Given the description of an element on the screen output the (x, y) to click on. 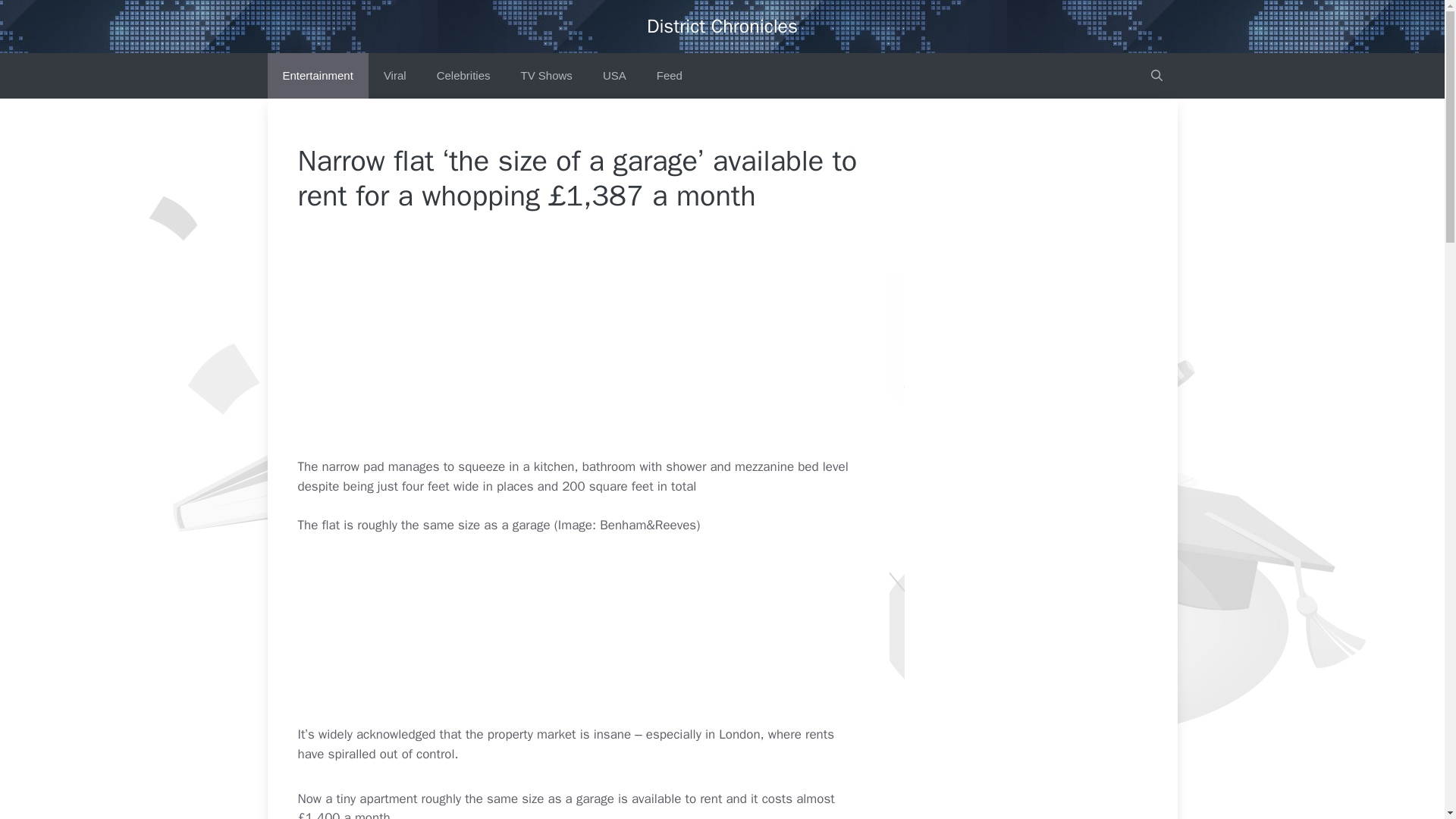
Advertisement (611, 345)
USA (615, 75)
Celebrities (463, 75)
Advertisement (611, 629)
Feed (669, 75)
Entertainment (317, 75)
TV Shows (546, 75)
Viral (395, 75)
District Chronicles (721, 25)
